Given the description of an element on the screen output the (x, y) to click on. 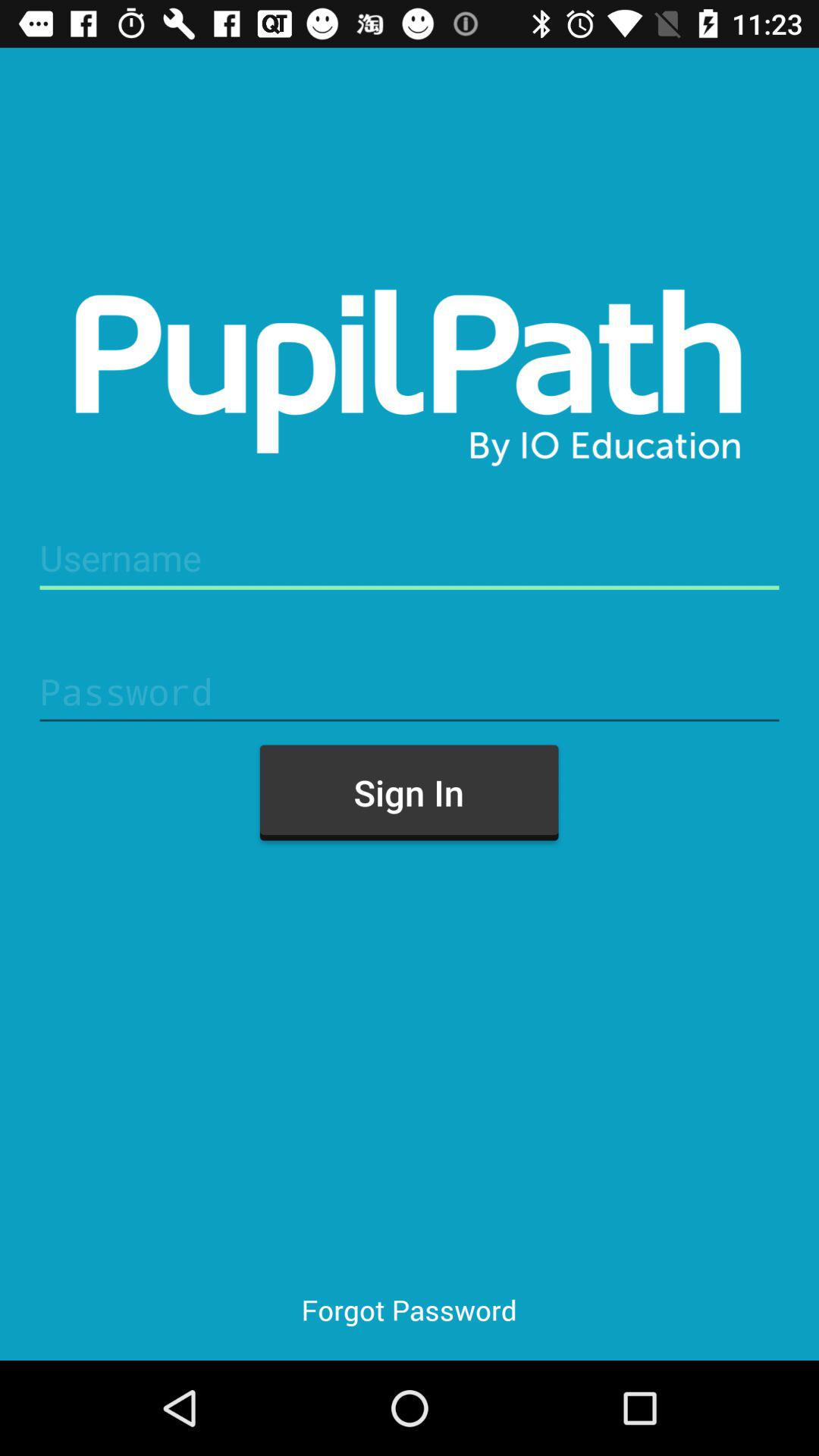
flip to the sign in (408, 792)
